Given the description of an element on the screen output the (x, y) to click on. 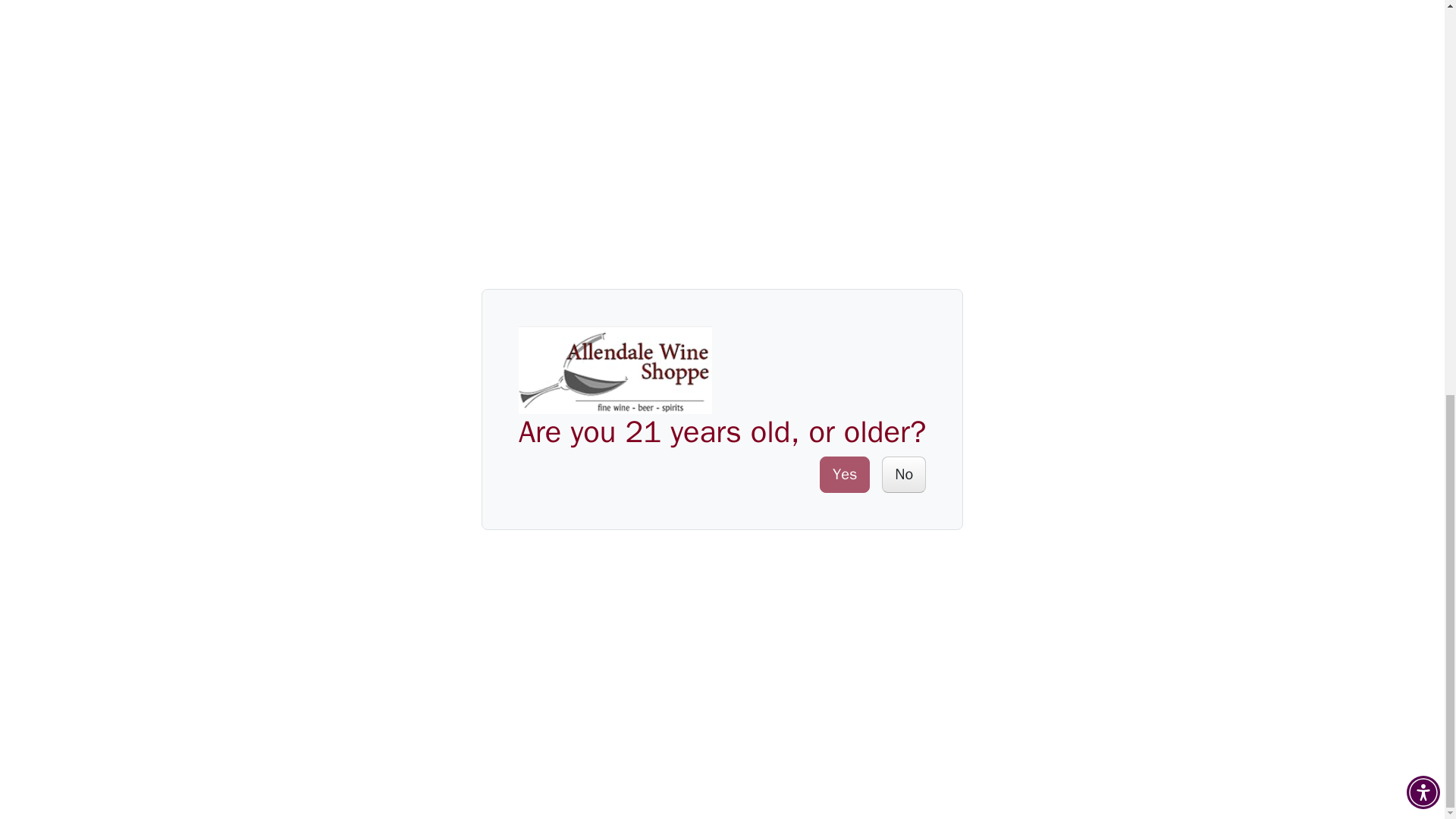
Jeb Dunnuck 97 point rating. (756, 127)
Wine Advocate 97 point rating. (770, 8)
Accessibility Menu (1422, 31)
Wine Spectator 94 point rating. (774, 283)
